Given the description of an element on the screen output the (x, y) to click on. 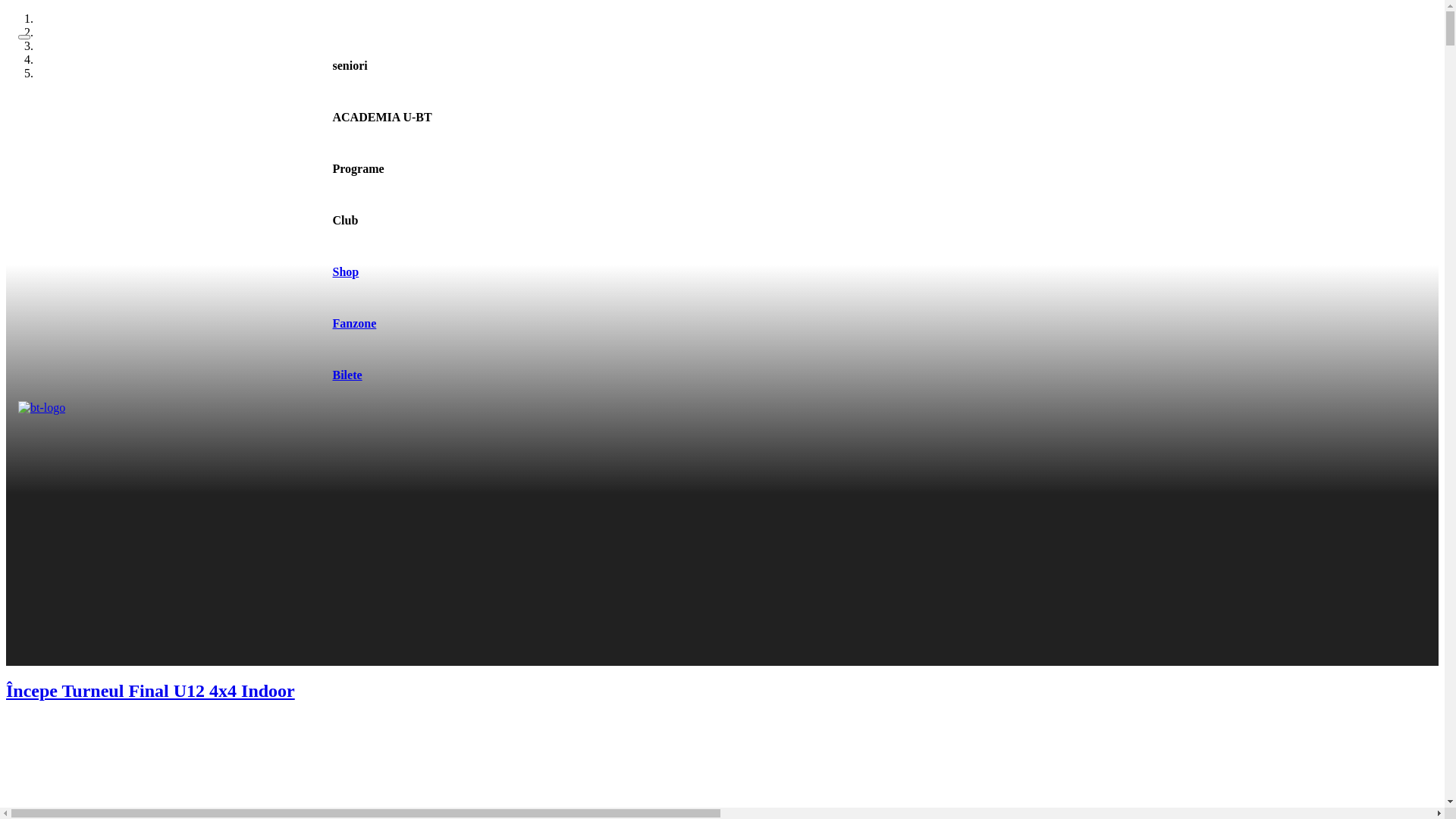
Programe Element type: text (357, 168)
ACADEMIA U-BT Element type: text (381, 117)
Shop Element type: text (345, 272)
Club Element type: text (344, 220)
Bilete Element type: text (346, 375)
Fanzone Element type: text (354, 323)
seniori Element type: text (349, 65)
